Given the description of an element on the screen output the (x, y) to click on. 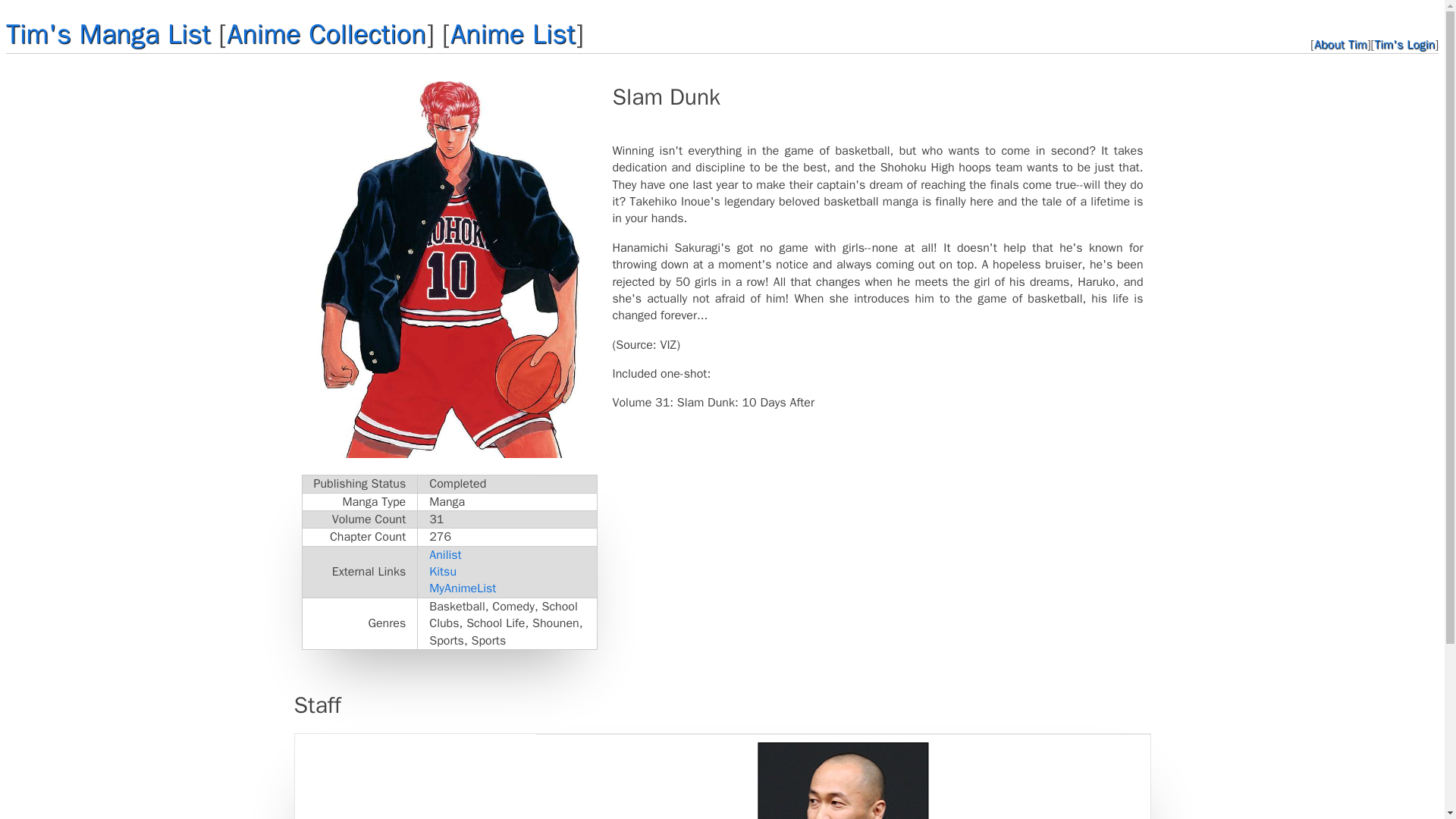
Tim's Manga List (108, 33)
About Tim (1340, 44)
MyAnimeList (462, 588)
Kitsu (443, 571)
Anime List (512, 33)
Anime Collection (326, 33)
Anilist (445, 554)
